Given the description of an element on the screen output the (x, y) to click on. 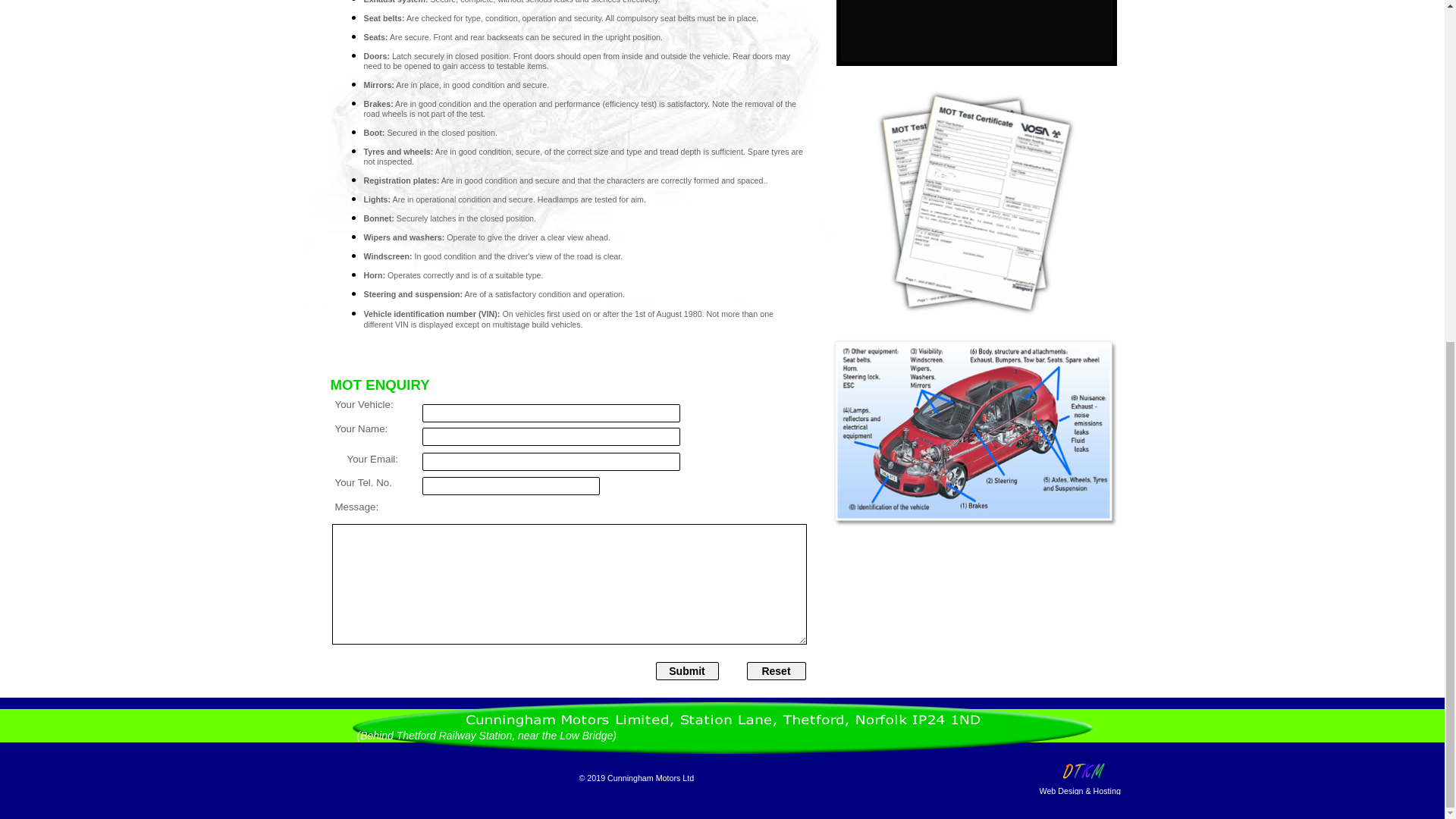
Submit (686, 670)
Reset (775, 670)
Submit (686, 670)
